Given the description of an element on the screen output the (x, y) to click on. 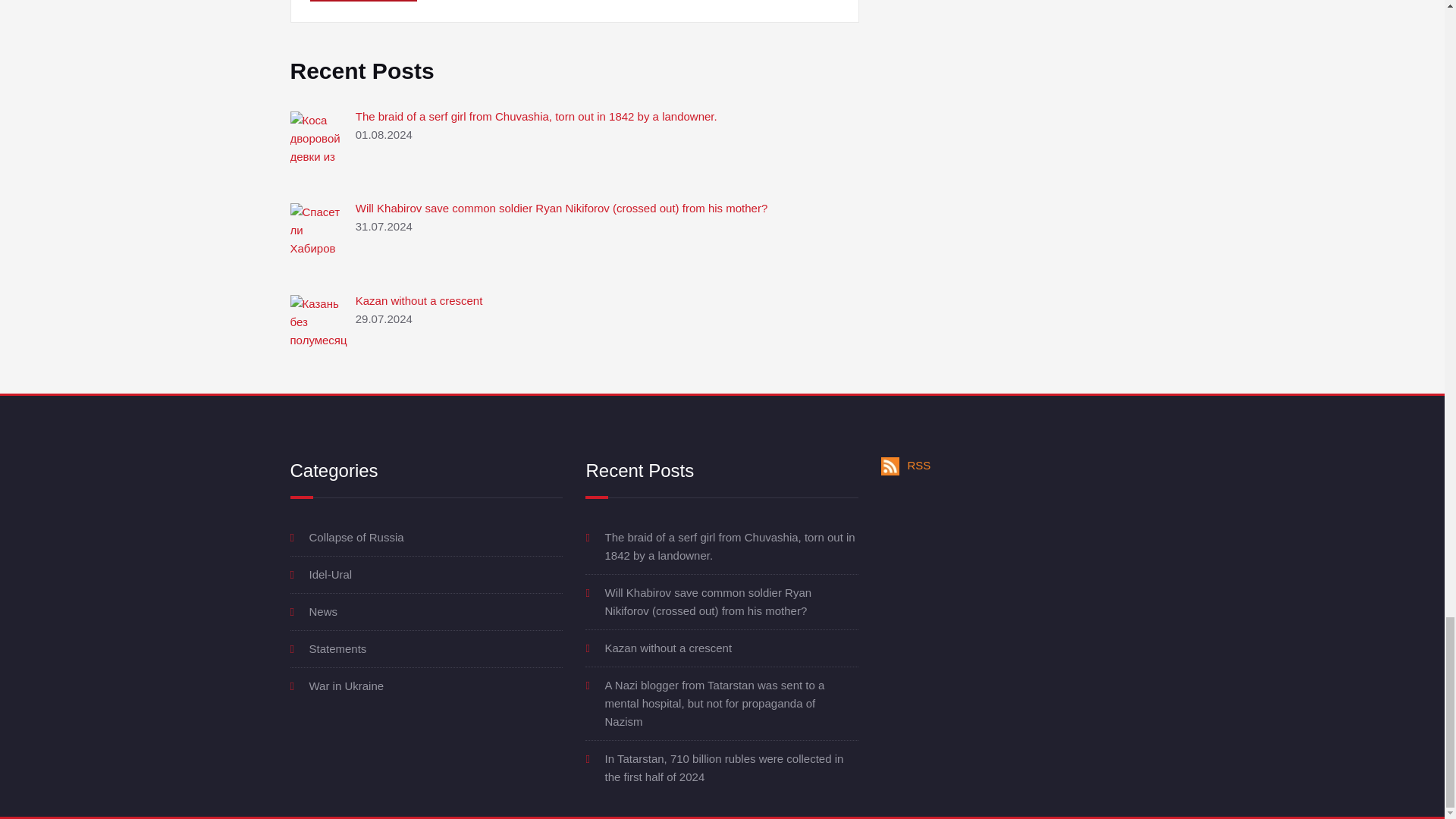
Collapse of Russia (356, 536)
Kazan without a crescent (668, 647)
War in Ukraine (346, 685)
Idel-Ural (330, 574)
News (322, 611)
Kazan without a crescent (419, 300)
Statements (337, 648)
